Given the description of an element on the screen output the (x, y) to click on. 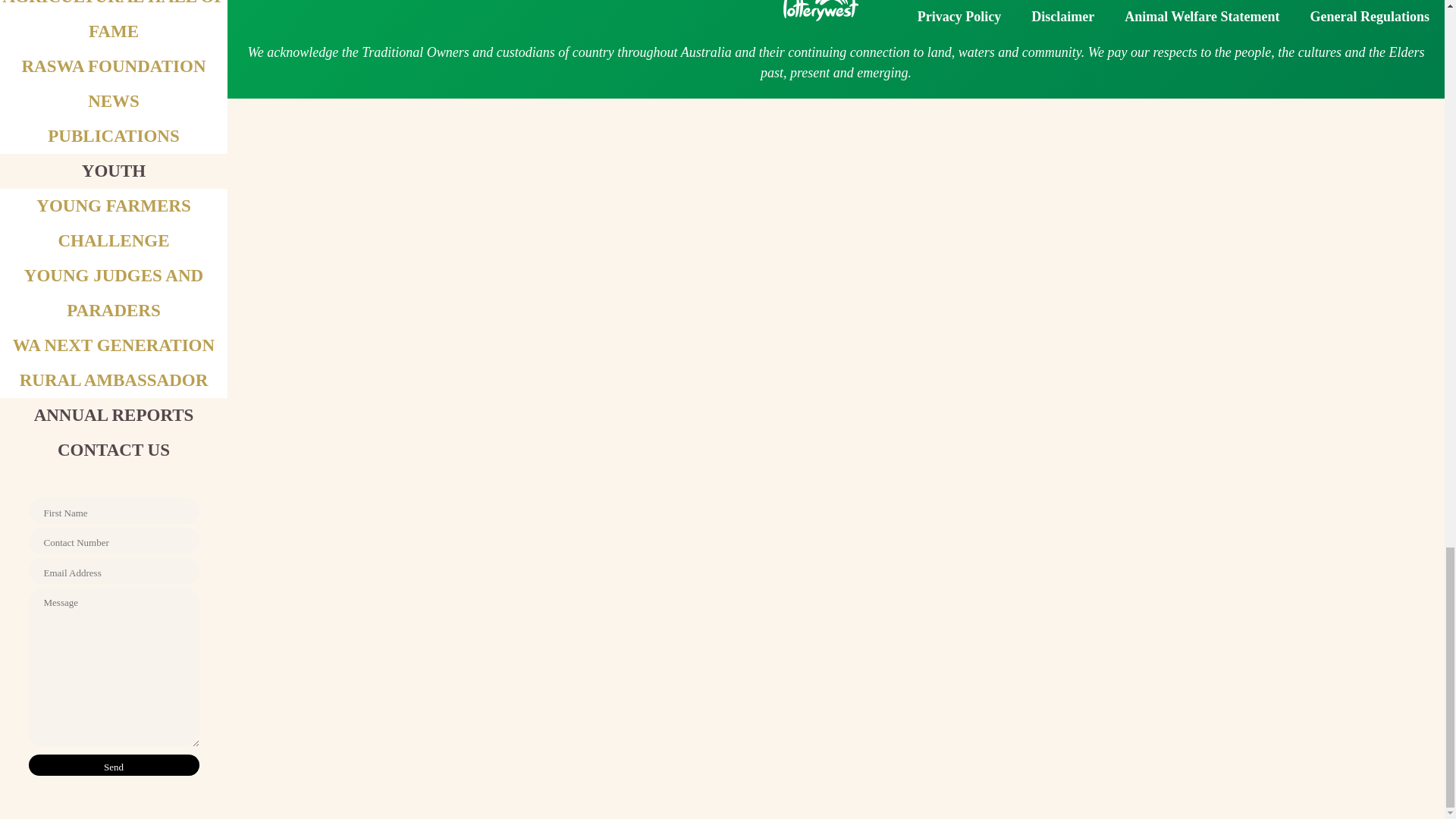
NEWS (113, 100)
PUBLICATIONS (113, 135)
RASWA FOUNDATION (113, 66)
Send (114, 764)
AGRICULTURAL HALL OF FAME (113, 20)
YOUTH (113, 170)
YOUNG FARMERS CHALLENGE (113, 223)
